Given the description of an element on the screen output the (x, y) to click on. 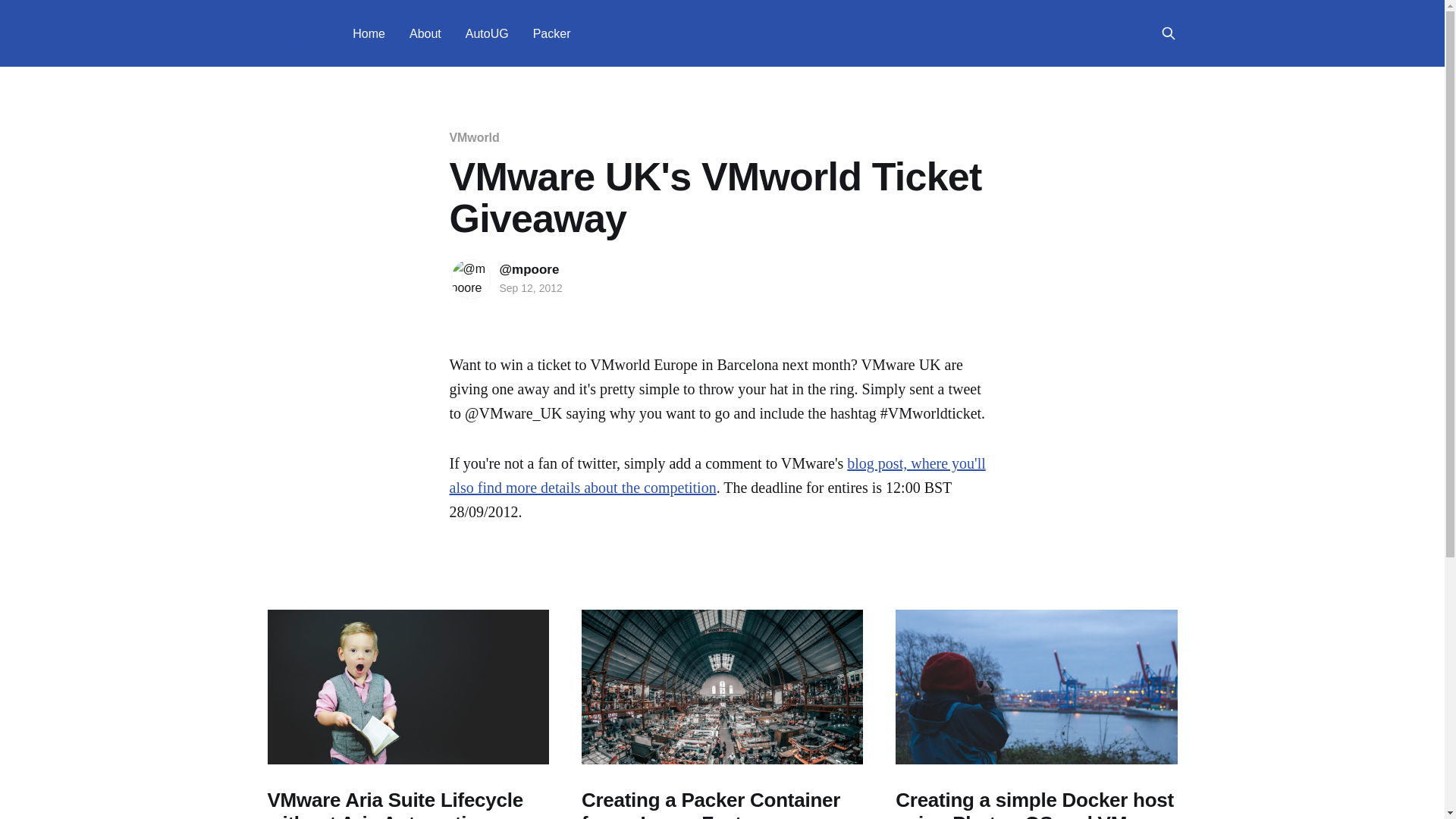
VMworld (473, 137)
Home (368, 33)
Packer (551, 33)
About (425, 33)
AutoUG (486, 33)
